Given the description of an element on the screen output the (x, y) to click on. 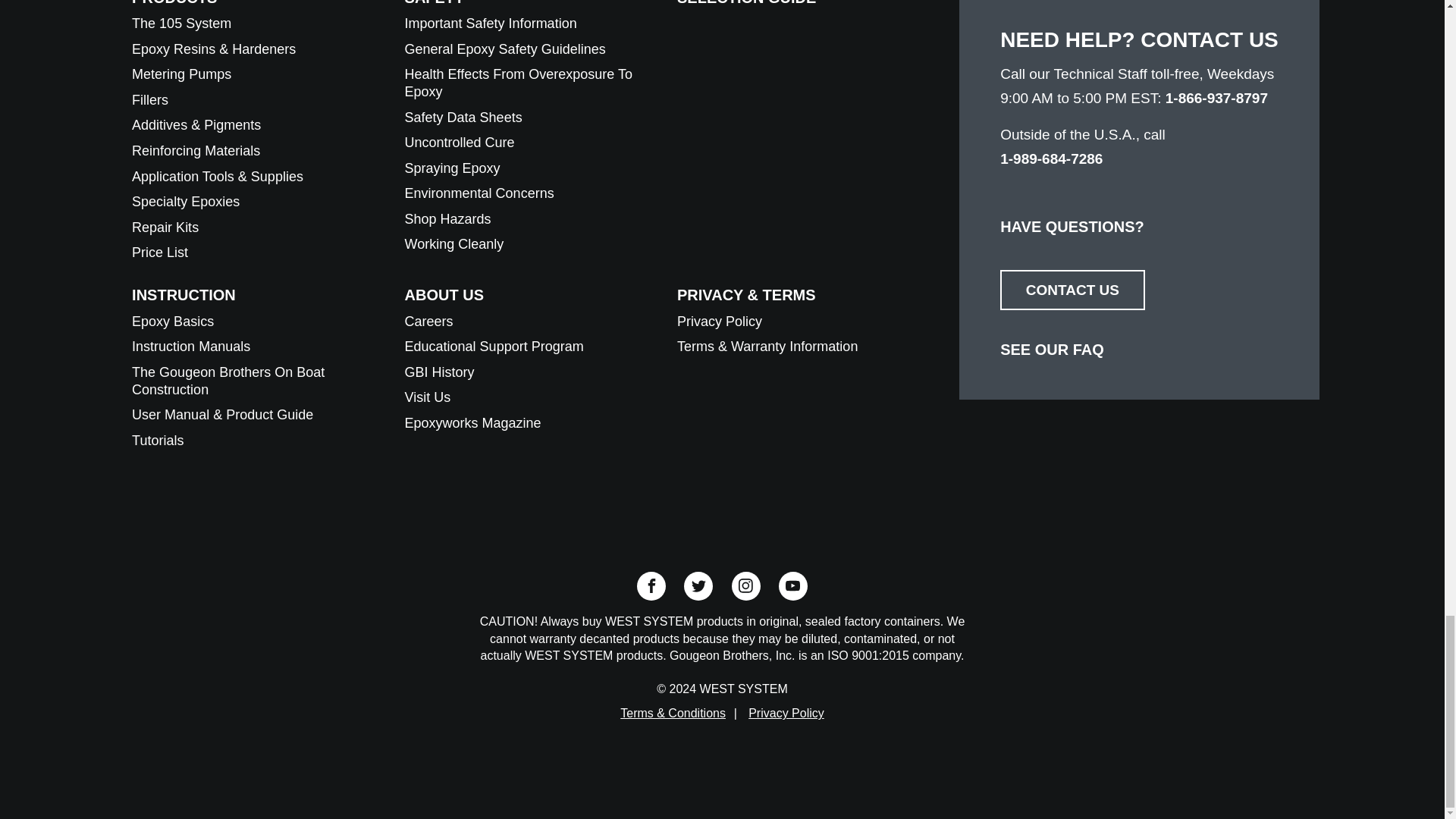
Repair Kits (165, 227)
General Epoxy Safety Guidelines (504, 48)
Safety (434, 2)
Price List (159, 252)
Important Safety Information (490, 23)
Safety Data Sheets (463, 117)
Fillers (150, 99)
Specialty Epoxies (186, 201)
Metering Pumps (181, 73)
The 105 System (181, 23)
